Given the description of an element on the screen output the (x, y) to click on. 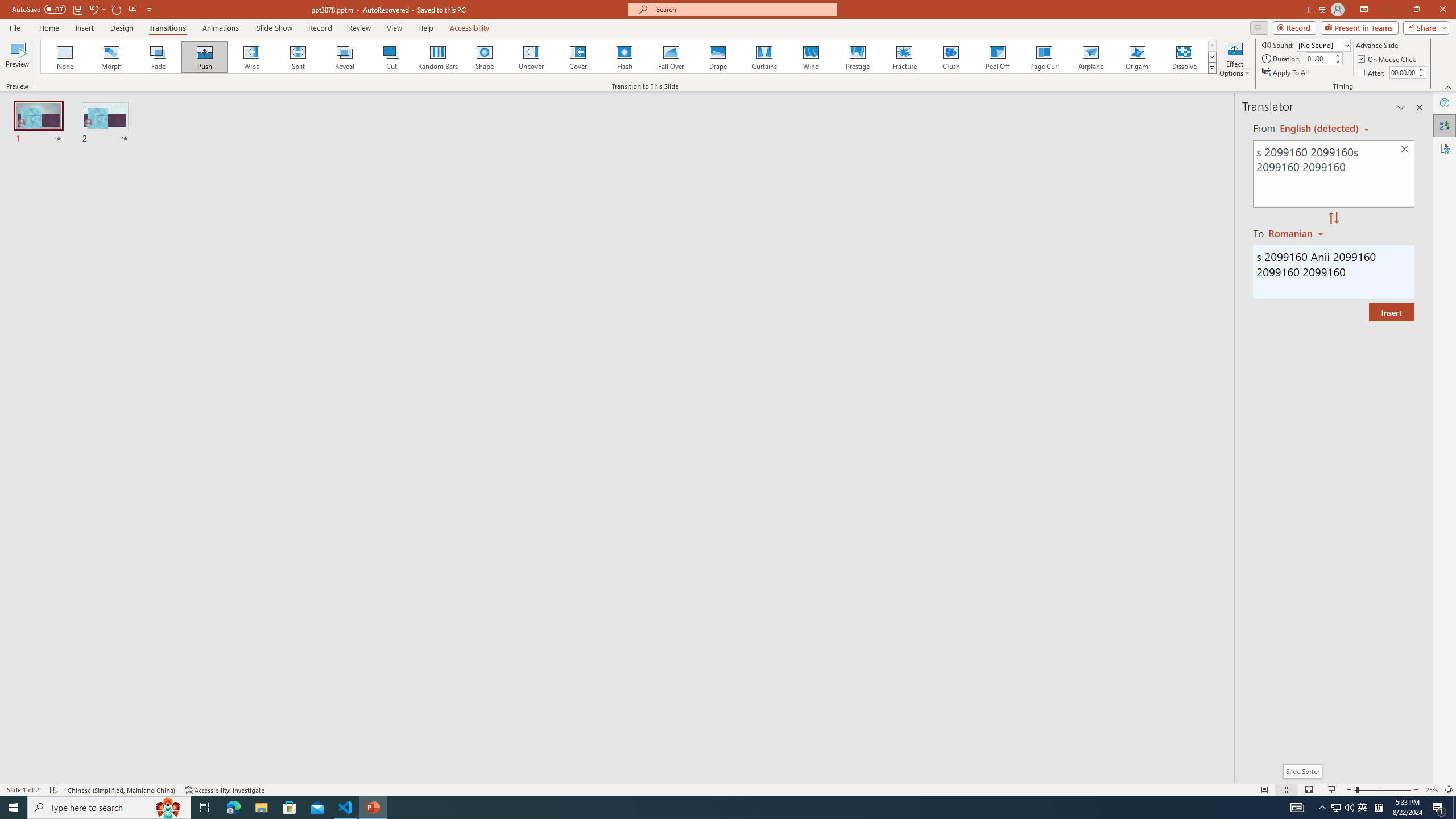
Push (205, 56)
Transition Effects (1212, 67)
Swap "from" and "to" languages. (1333, 218)
AutomationID: AnimationTransitionGallery (628, 56)
